Given the description of an element on the screen output the (x, y) to click on. 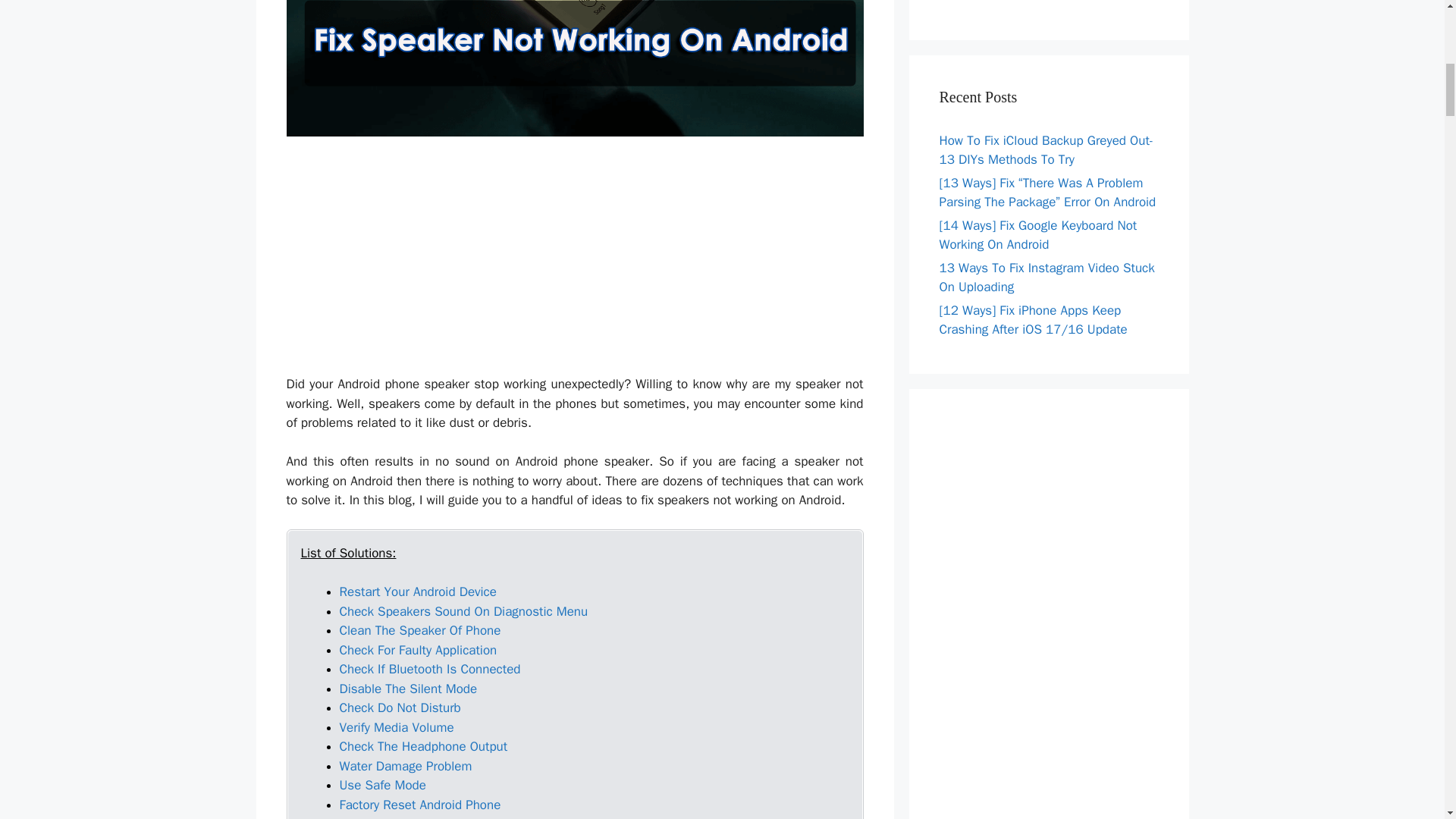
Restart Your Android Device (417, 591)
Scroll back to top (1406, 720)
Check Speakers Sound On Diagnostic Menu (463, 611)
Clean The Speaker Of Phone (419, 630)
